Given the description of an element on the screen output the (x, y) to click on. 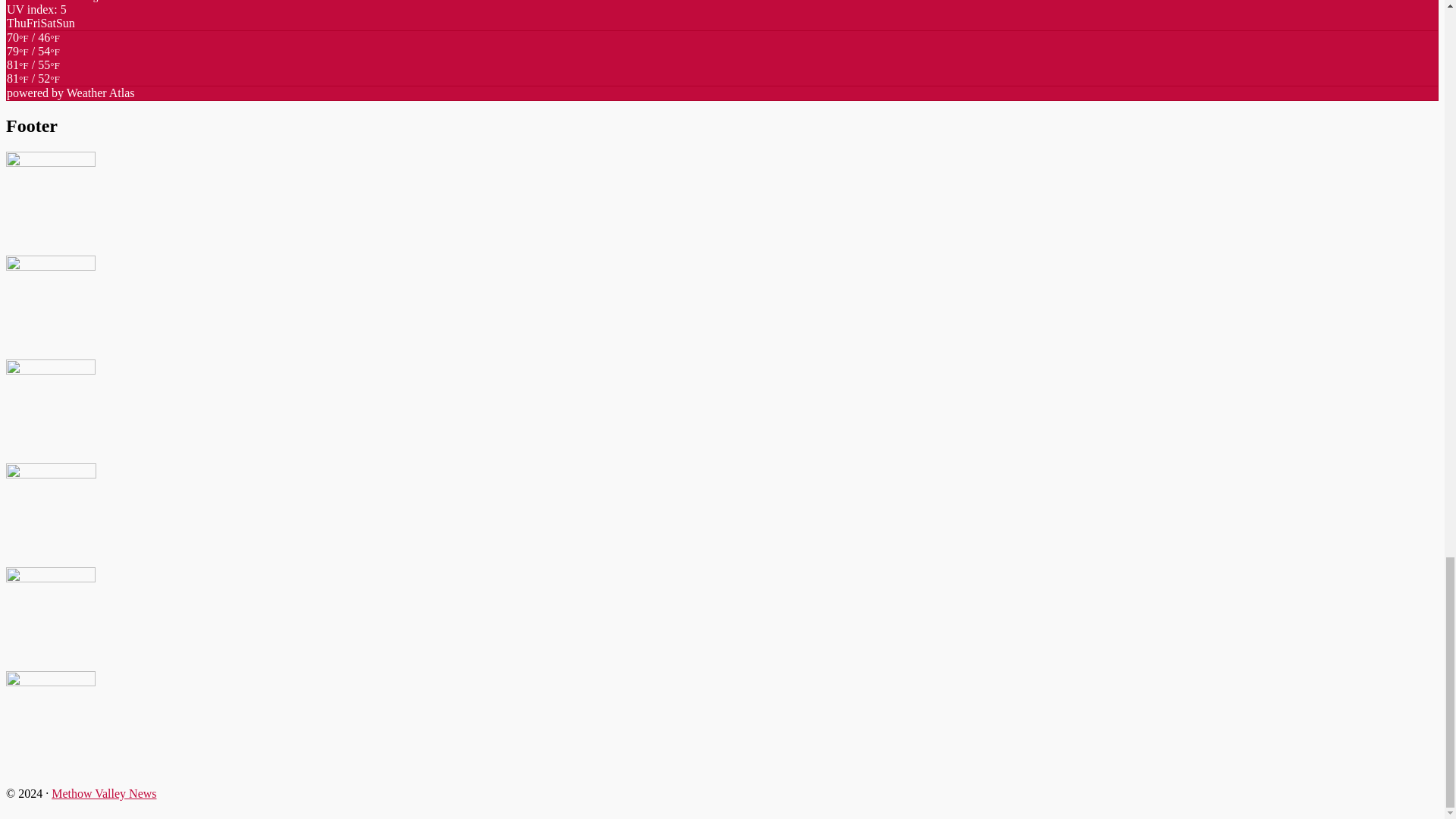
Cloudy (33, 71)
Mostly Cloudy (33, 44)
Partly Cloudy (33, 78)
Mostly Sunny (33, 58)
